Given the description of an element on the screen output the (x, y) to click on. 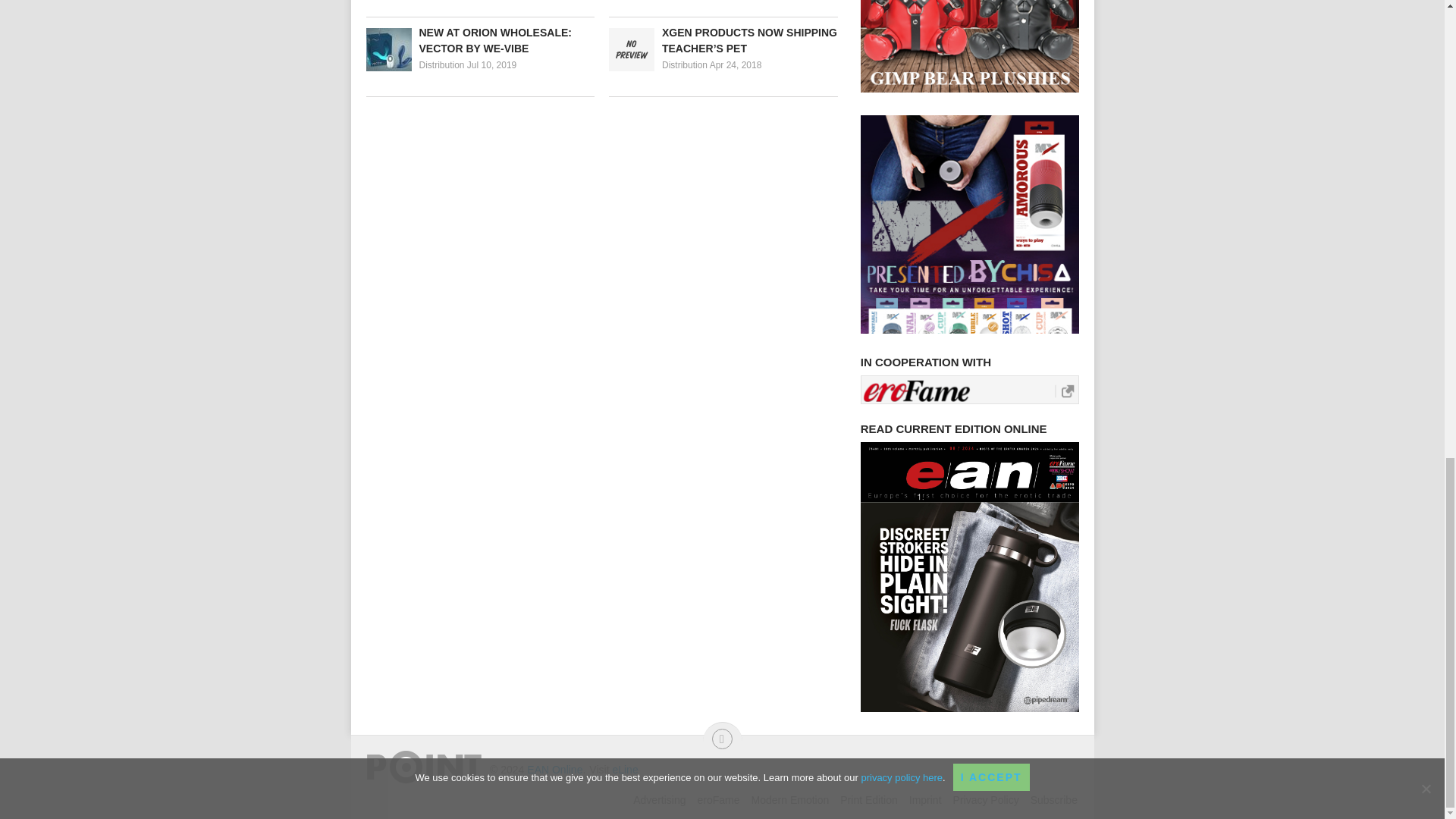
NEW AT ORION WHOLESALE: VECTOR BY WE-VIBE (479, 40)
Distribution (684, 64)
New at ORION Wholesale: Vector by We-Vibe (479, 40)
Distribution (441, 64)
